Given the description of an element on the screen output the (x, y) to click on. 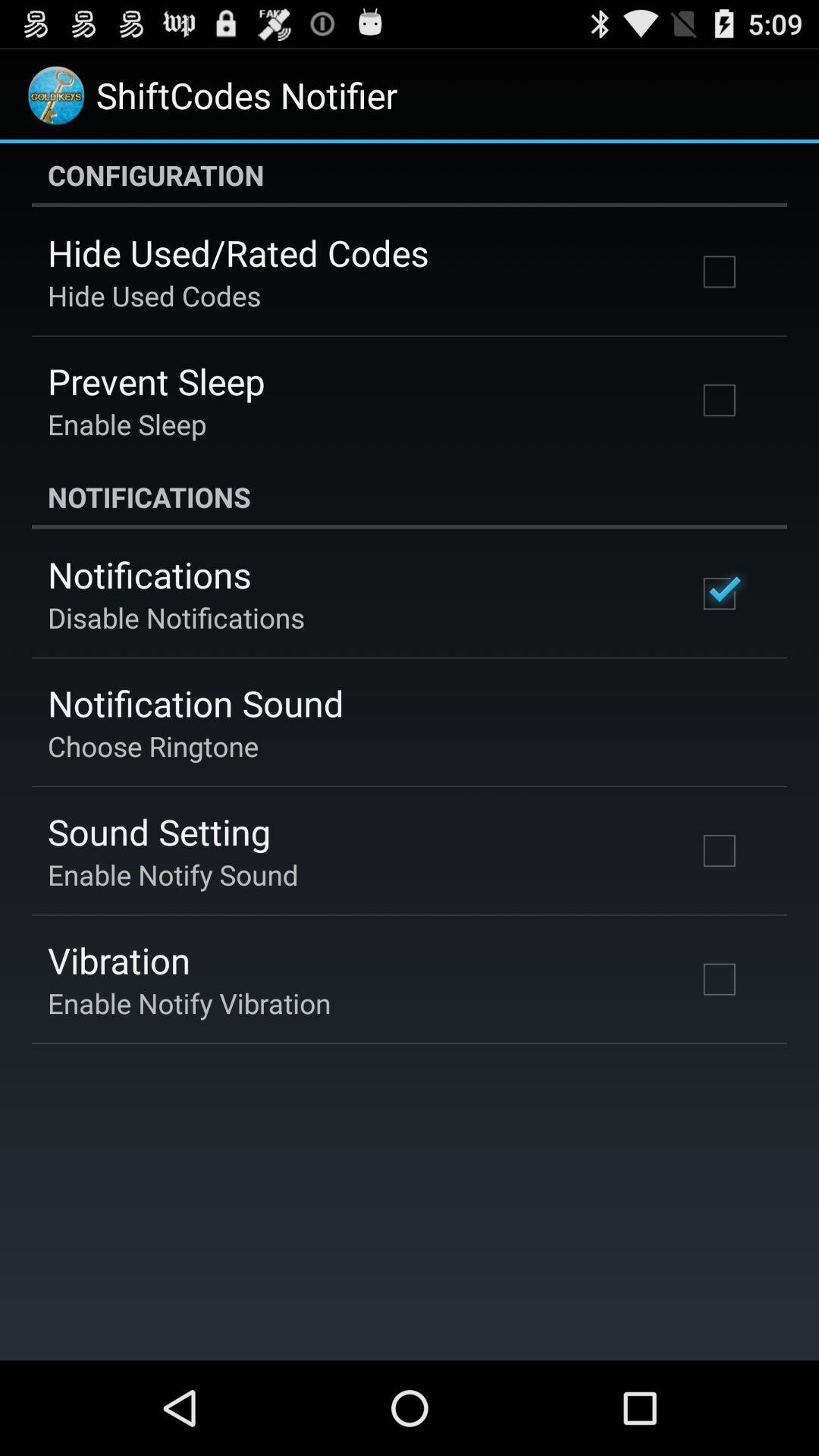
flip to the notification sound item (195, 703)
